Given the description of an element on the screen output the (x, y) to click on. 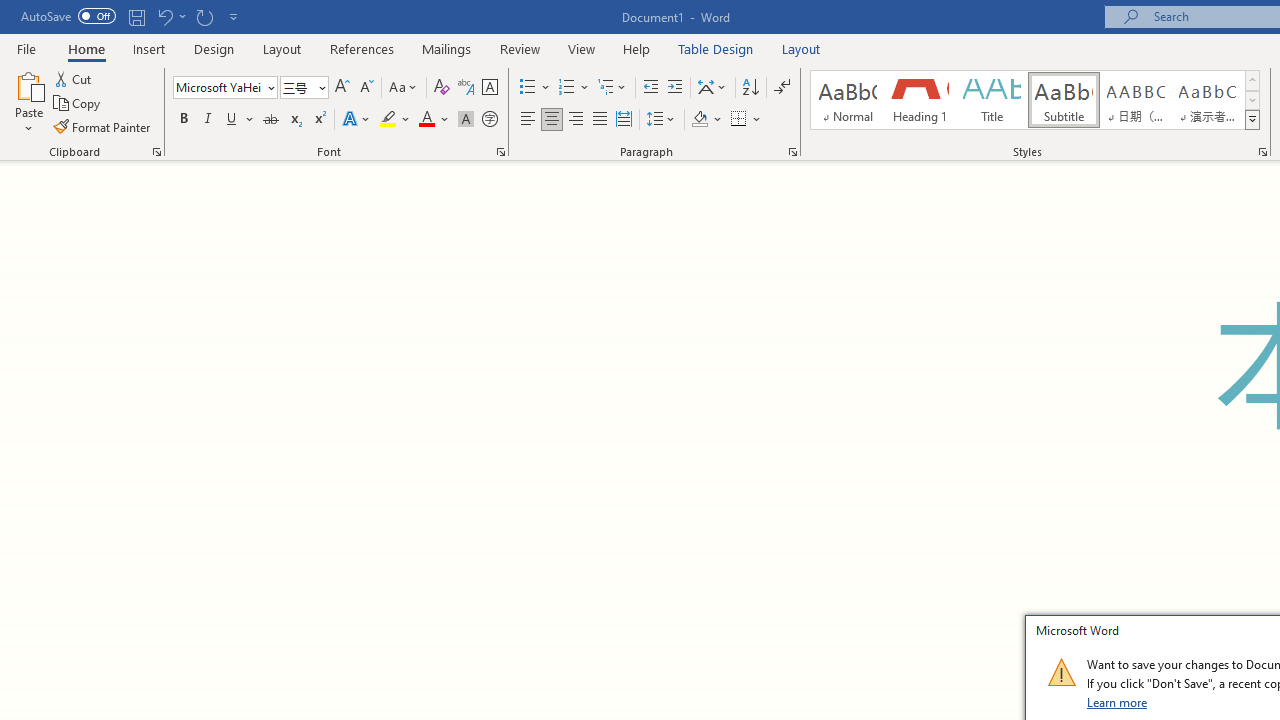
Undo Superscript (164, 15)
Center (552, 119)
Text Effects and Typography (357, 119)
Multilevel List (613, 87)
Decrease Indent (650, 87)
Increase Indent (675, 87)
Repeat Superscript (204, 15)
Change Case (404, 87)
Character Border (489, 87)
